Given the description of an element on the screen output the (x, y) to click on. 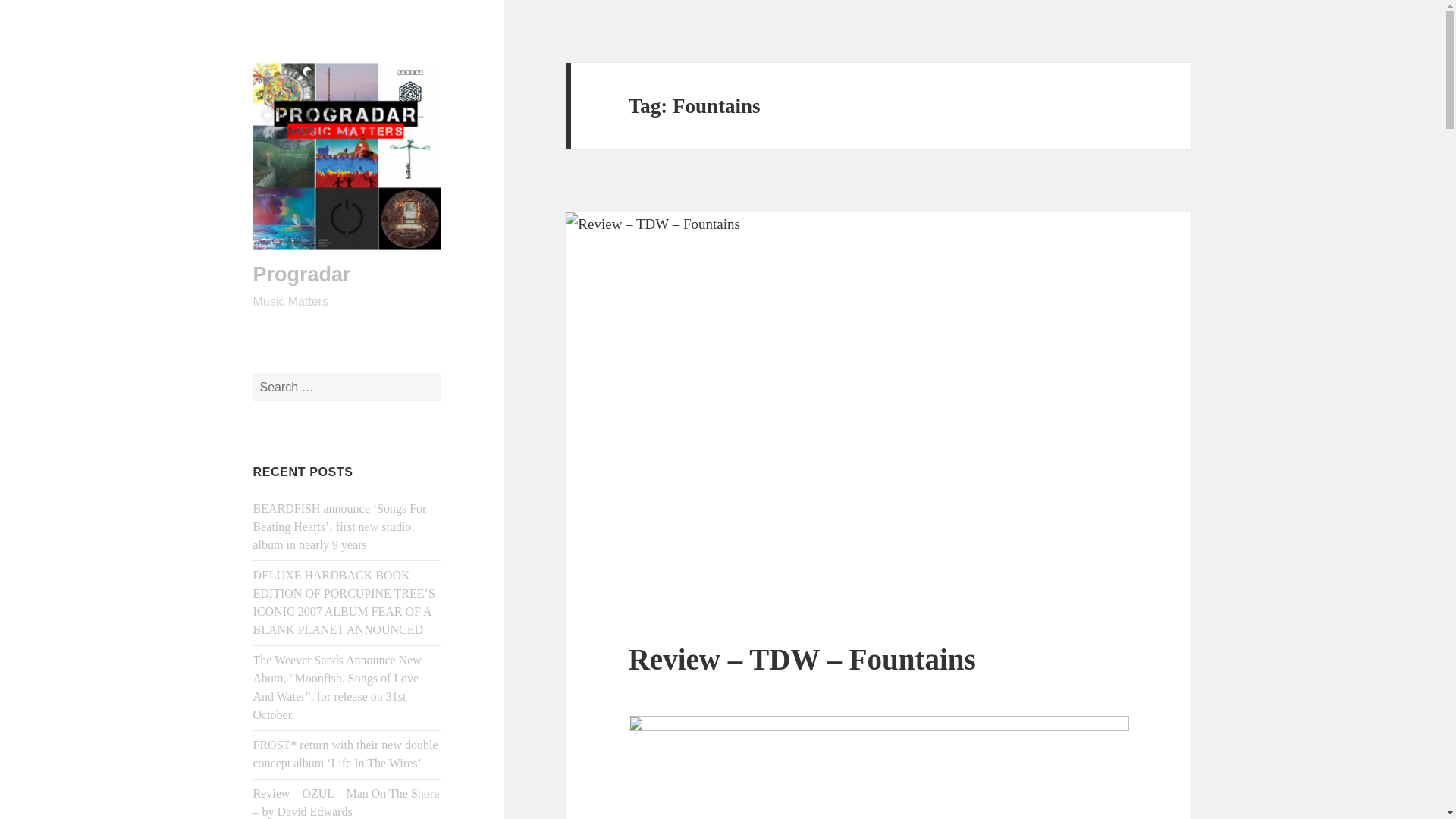
Progradar (301, 273)
